Given the description of an element on the screen output the (x, y) to click on. 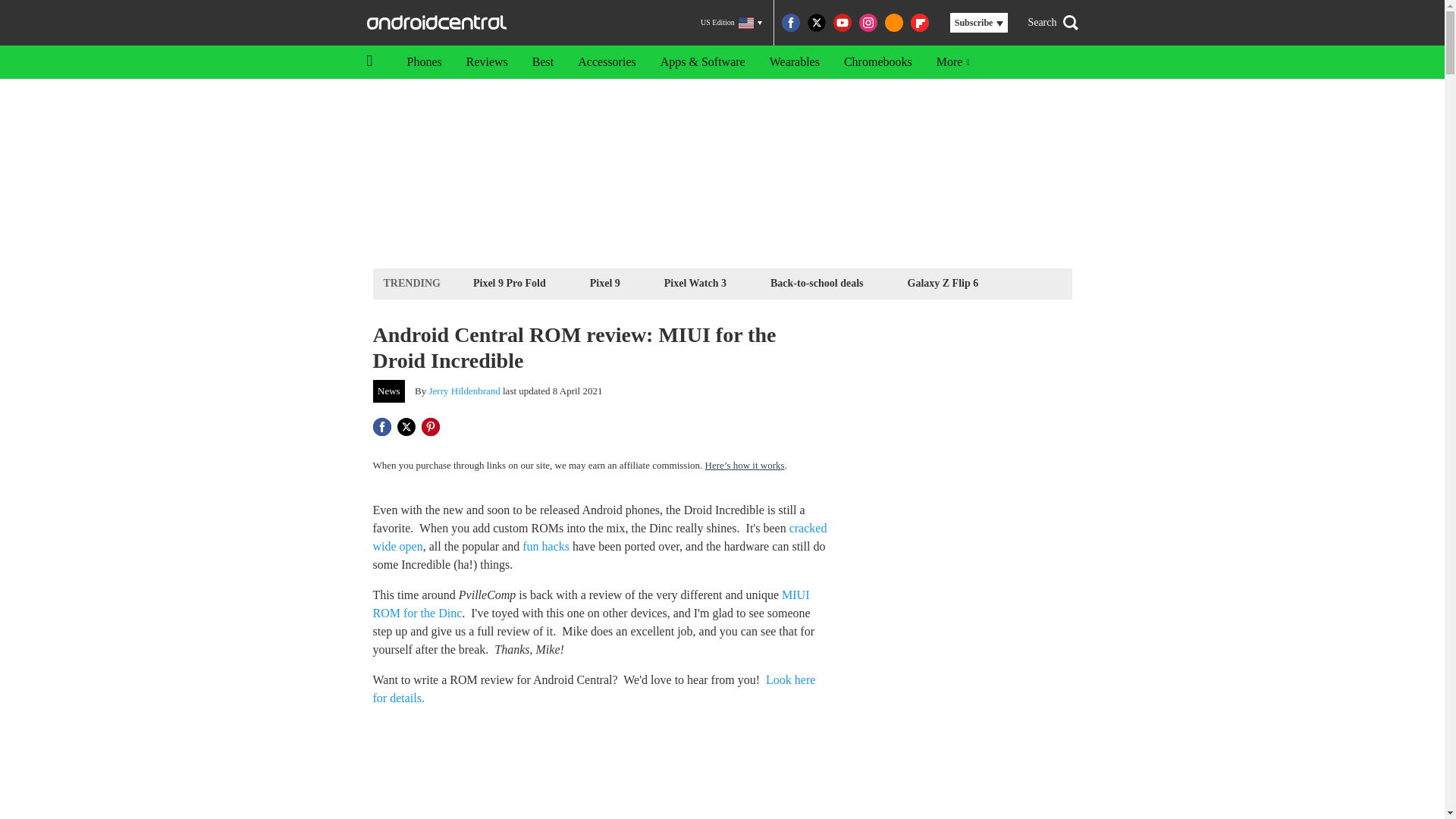
Pixel 9 Pro Fold (509, 282)
Phones (423, 61)
Best (542, 61)
Wearables (794, 61)
Back-to-school deals (817, 282)
Pixel 9 (605, 282)
Accessories (606, 61)
US Edition (731, 22)
Reviews (486, 61)
Chromebooks (877, 61)
